Given the description of an element on the screen output the (x, y) to click on. 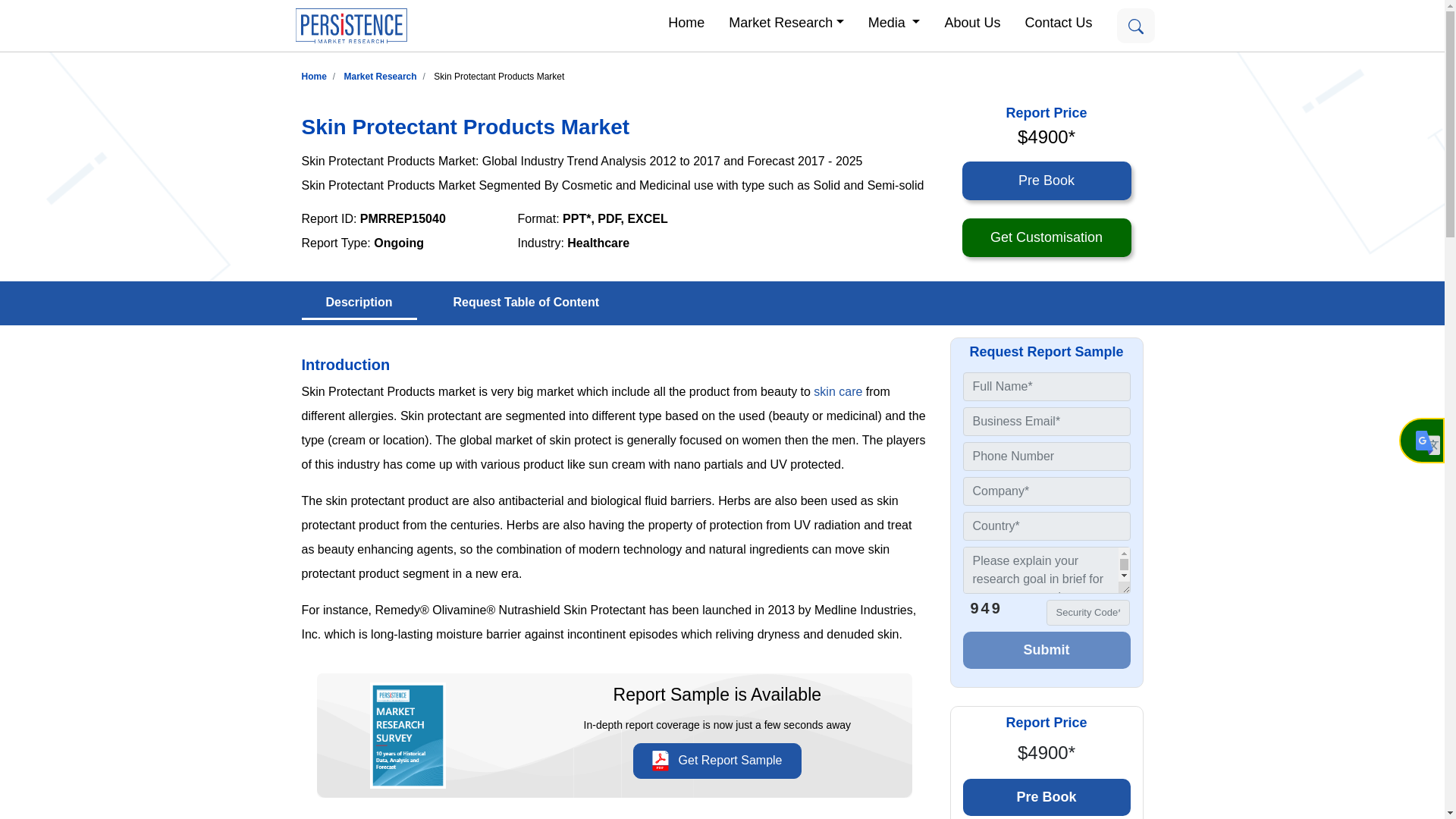
Contact Us (1057, 21)
Persistence Market Report (313, 76)
Market Research (786, 21)
Persistence Market Research Company (349, 25)
Contact Us (1057, 21)
Pre Book (1046, 796)
Get Report Sample (716, 760)
Description (358, 303)
Home (313, 76)
Home (686, 21)
Request Table of Content (526, 302)
Get Customisation (1045, 237)
Search (1135, 25)
Market Research (786, 21)
Persistence Market Research (379, 76)
